Given the description of an element on the screen output the (x, y) to click on. 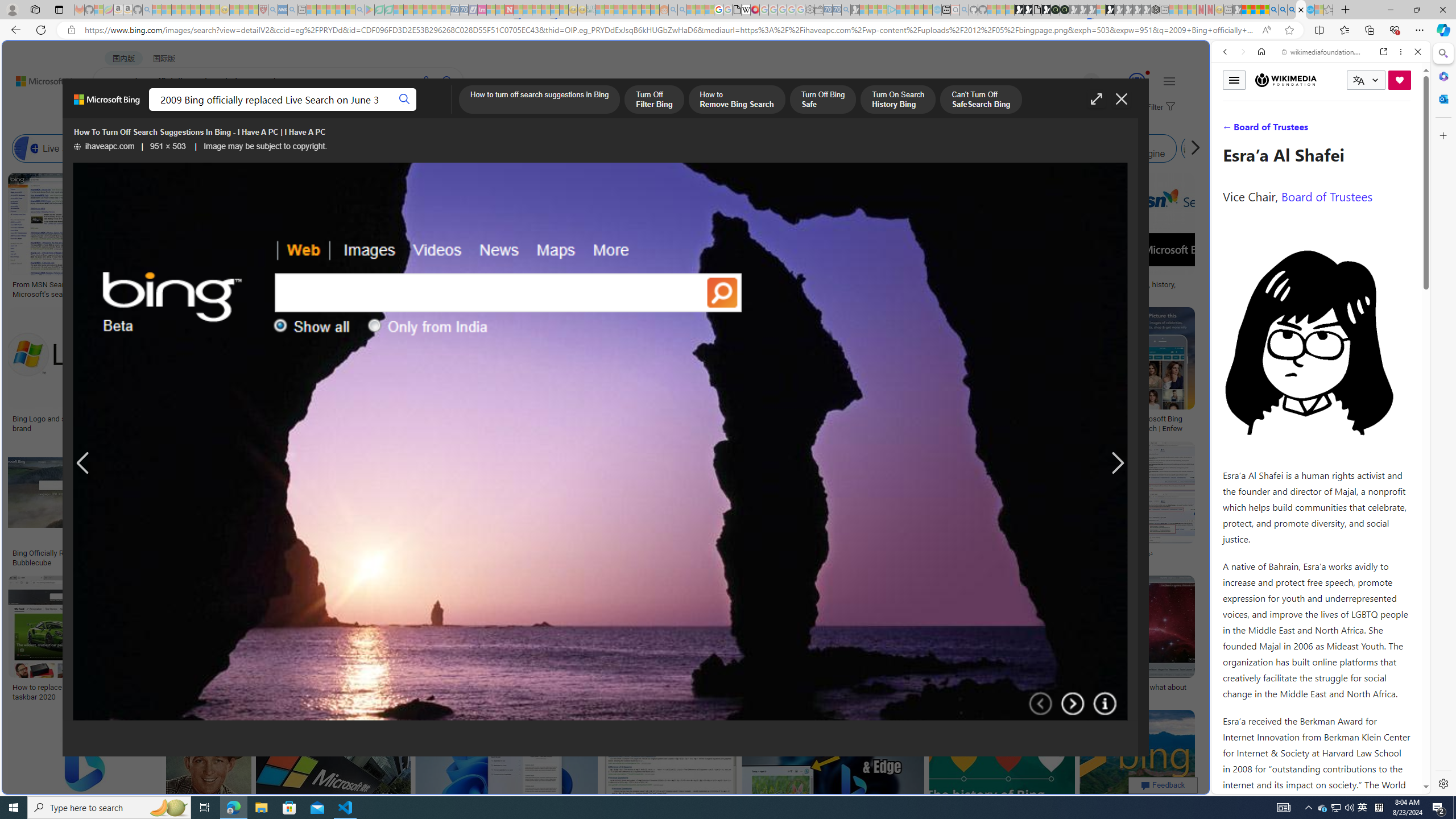
Microsoft Bing Search | EnfewSave (1162, 371)
MSN Homepage Bing Search Engine (815, 148)
microsoft bing (1043, 419)
Can't Turn Off SafeSearch Bing (981, 100)
Bing Logo and symbol, meaning, history, PNG, brand (97, 423)
